Given the description of an element on the screen output the (x, y) to click on. 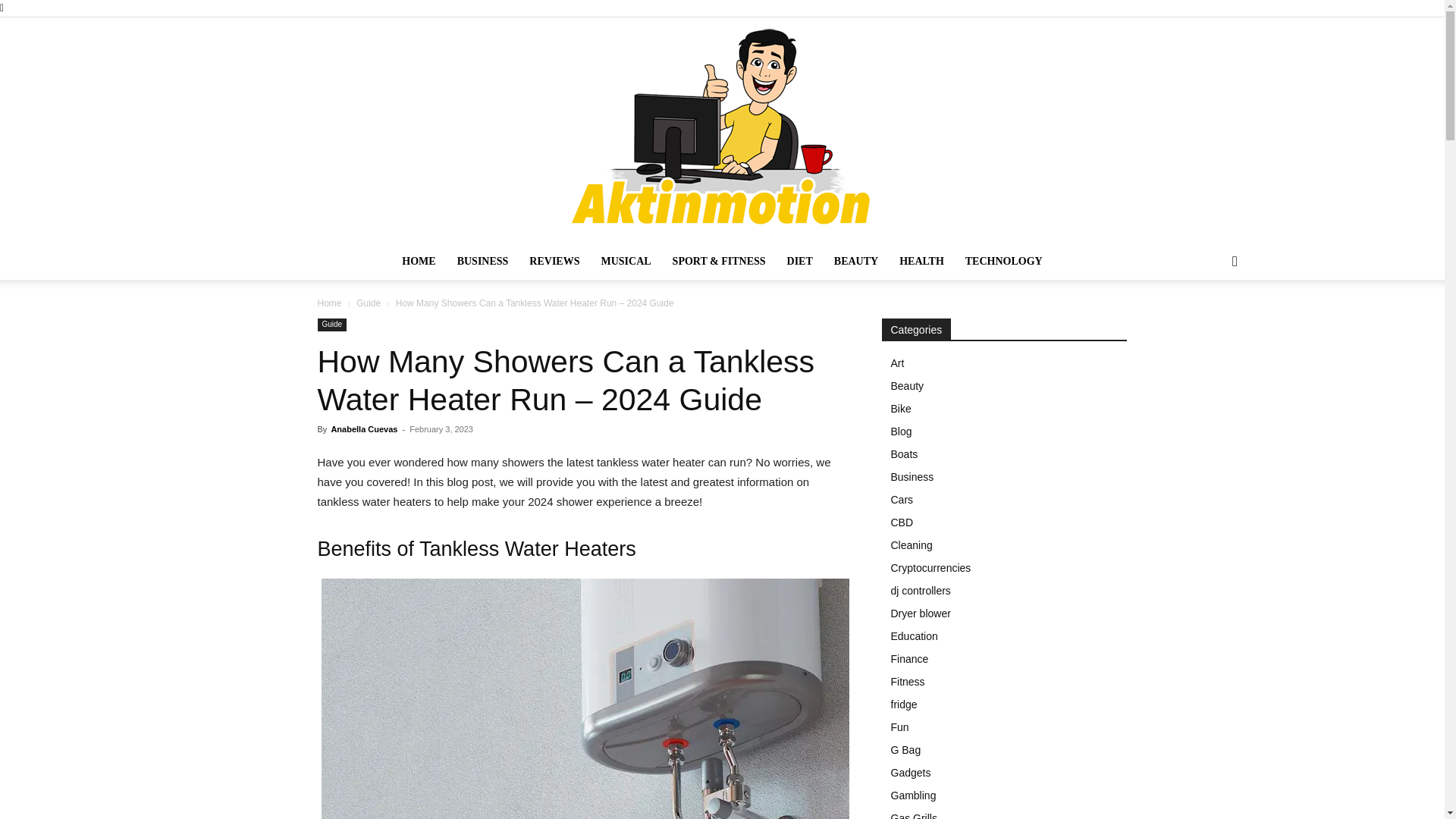
BUSINESS (482, 261)
REVIEWS (553, 261)
HOME (418, 261)
HEALTH (921, 261)
MUSICAL (625, 261)
BEAUTY (856, 261)
Search (1210, 322)
View all posts in Guide (368, 303)
TECHNOLOGY (1003, 261)
